Given the description of an element on the screen output the (x, y) to click on. 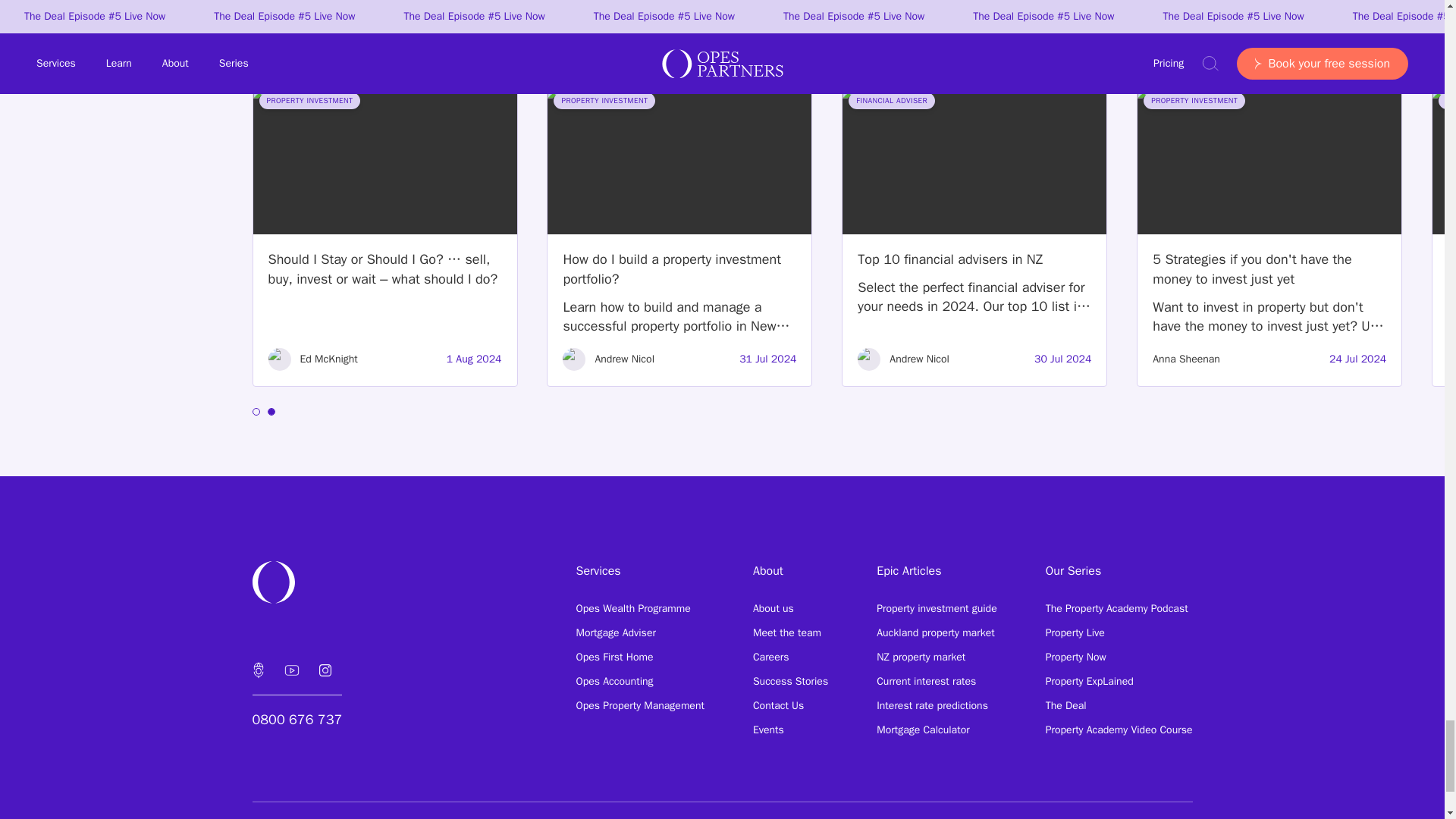
Instagram (323, 670)
Published on Wednesday 24th July, 2024 (1357, 359)
Published on Wednesday 31st July, 2024 (767, 359)
Podcast (258, 670)
Published on Thursday 1st August, 2024 (474, 359)
YouTube (290, 670)
Published on Tuesday 30th July, 2024 (1061, 359)
